Given the description of an element on the screen output the (x, y) to click on. 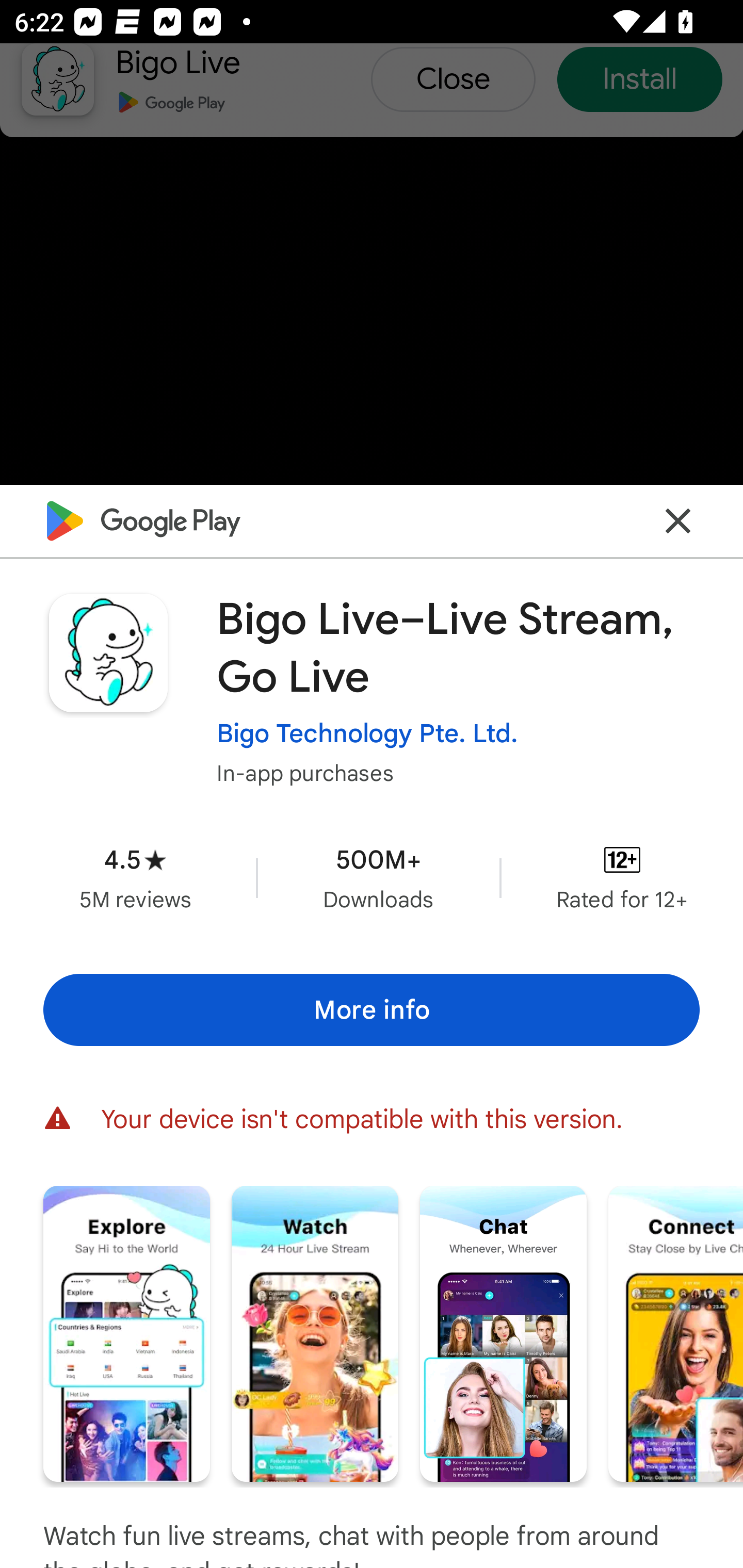
Close (677, 520)
Bigo Technology Pte. Ltd. (367, 732)
More info (371, 1009)
Screenshot "1" of "8" (126, 1333)
Screenshot "2" of "8" (314, 1333)
Screenshot "3" of "8" (502, 1333)
Screenshot "4" of "8" (675, 1333)
